Given the description of an element on the screen output the (x, y) to click on. 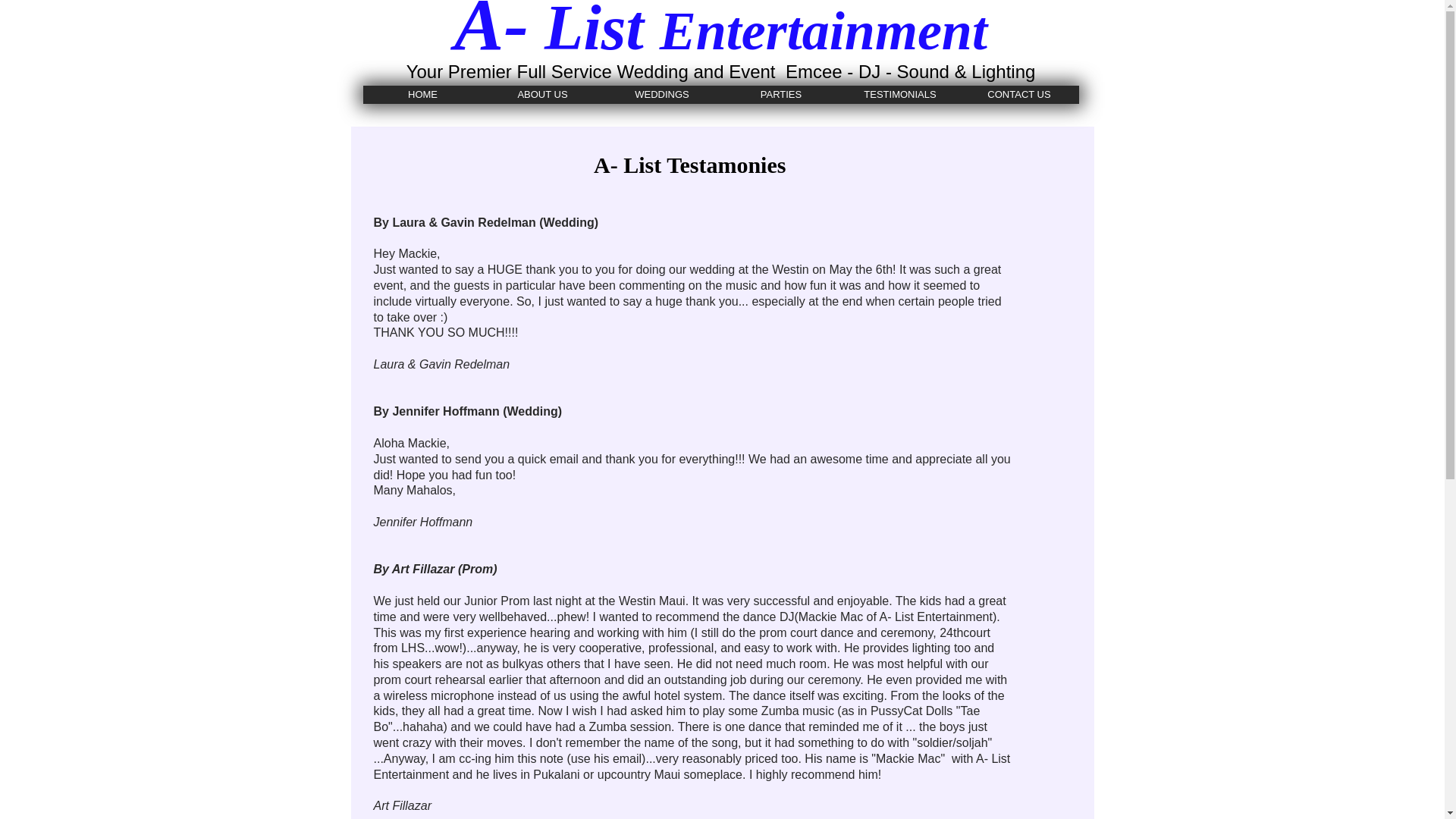
TESTIMONIALS (899, 94)
PARTIES (781, 94)
HOME (421, 94)
CONTACT US (1018, 94)
WEDDINGS (661, 94)
ABOUT US (541, 94)
